Given the description of an element on the screen output the (x, y) to click on. 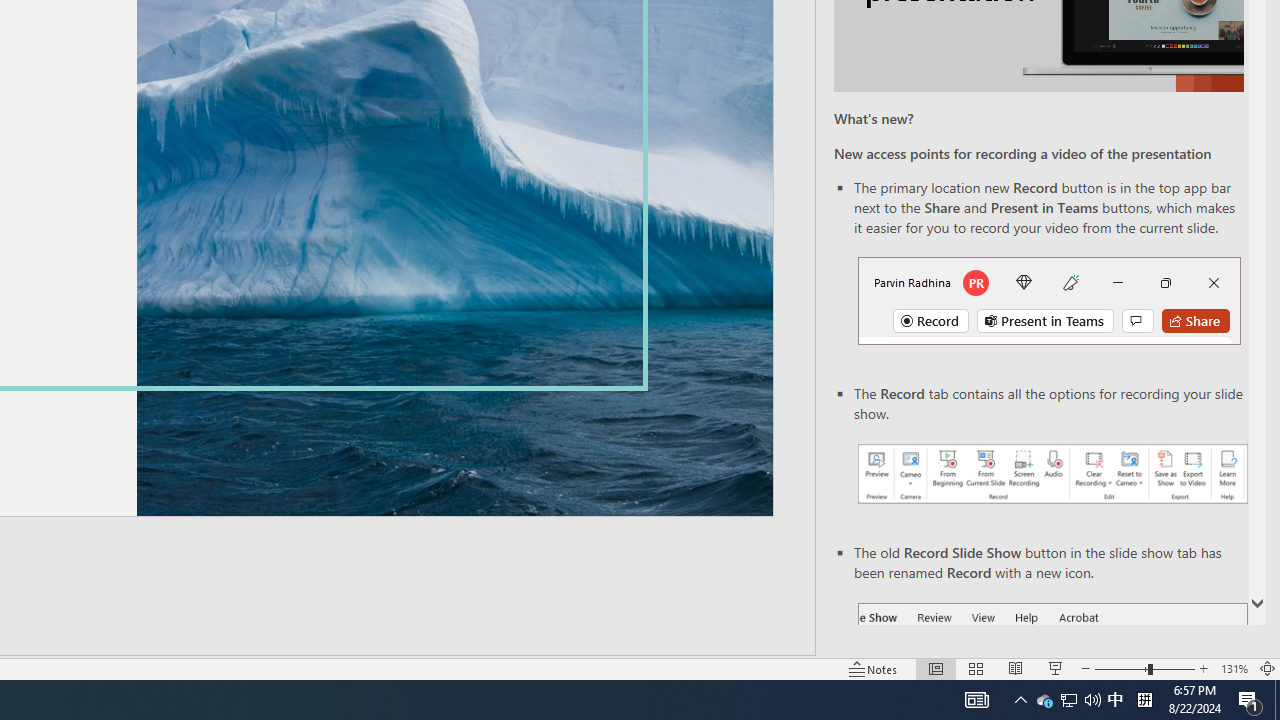
Record your presentations screenshot one (1052, 473)
Record button in top bar (1049, 300)
Zoom 131% (1234, 668)
